Given the description of an element on the screen output the (x, y) to click on. 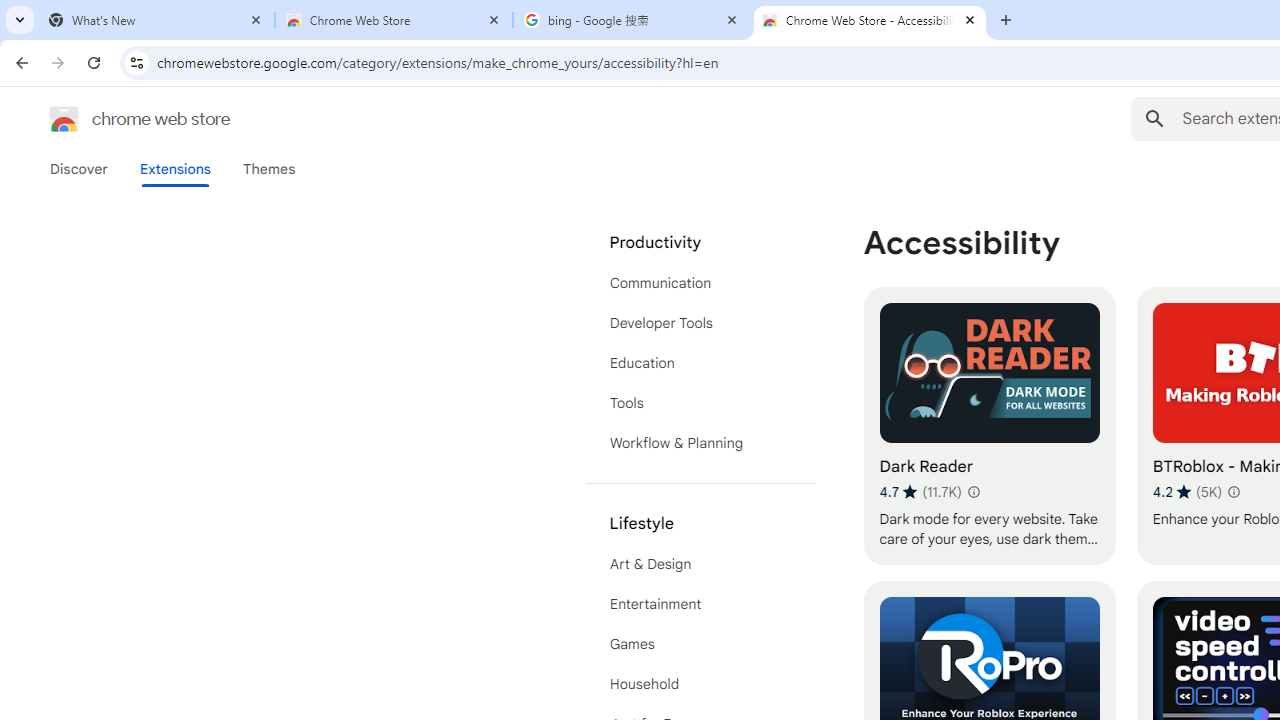
Average rating 4.2 out of 5 stars. 5K ratings. (1187, 491)
Communication (700, 282)
Themes (269, 169)
Chrome Web Store - Accessibility (870, 20)
Average rating 4.7 out of 5 stars. 11.7K ratings. (920, 491)
Chrome Web Store logo chrome web store (118, 118)
Workflow & Planning (700, 442)
Art & Design (700, 563)
Learn more about results and reviews "Dark Reader" (972, 491)
Chrome Web Store (394, 20)
